Given the description of an element on the screen output the (x, y) to click on. 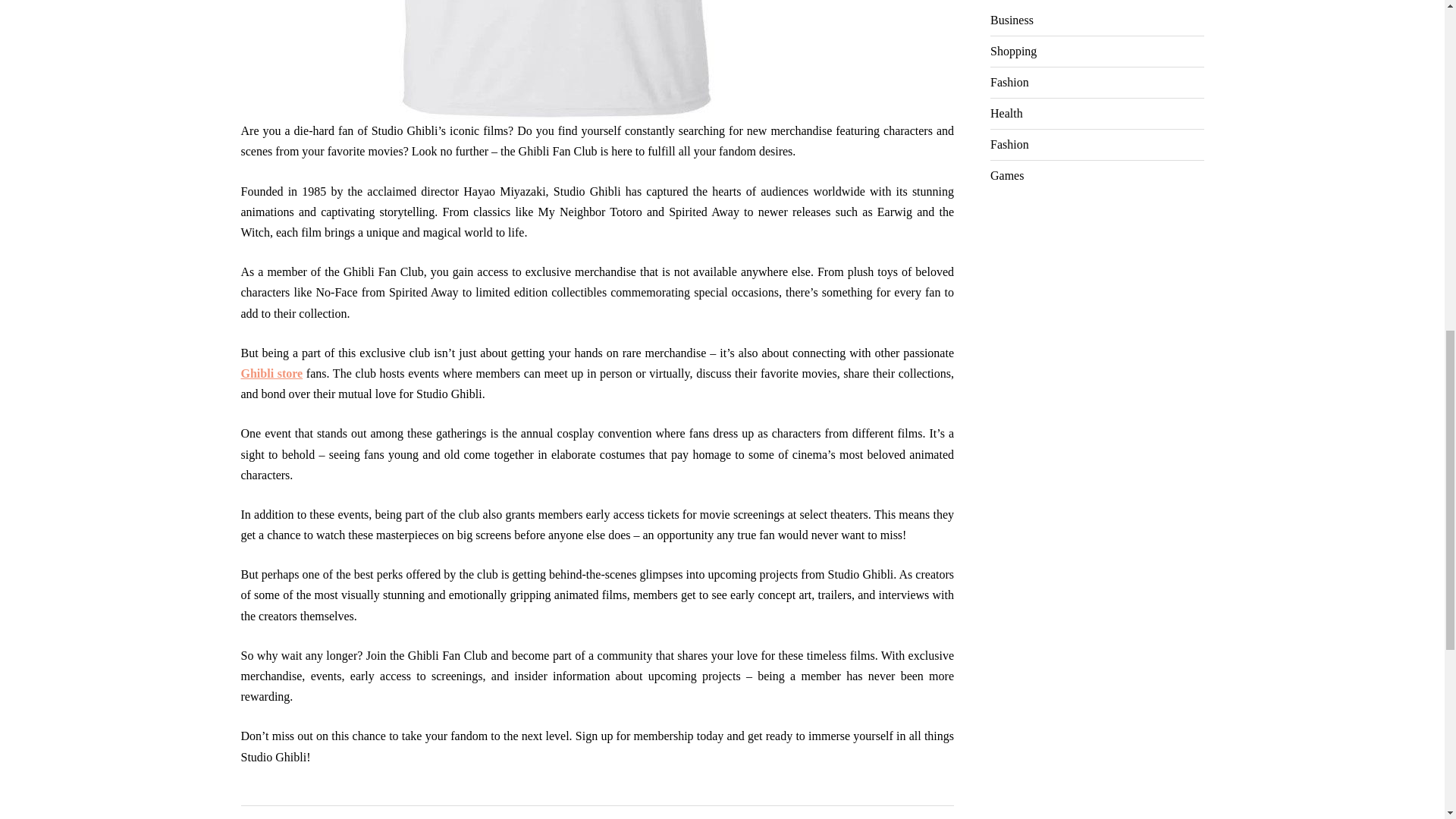
Games (1006, 175)
Shopping (1013, 51)
Fashion (1009, 144)
Business (1011, 20)
Health (1006, 113)
Ghibli store (271, 373)
Fashion (1009, 82)
